Given the description of an element on the screen output the (x, y) to click on. 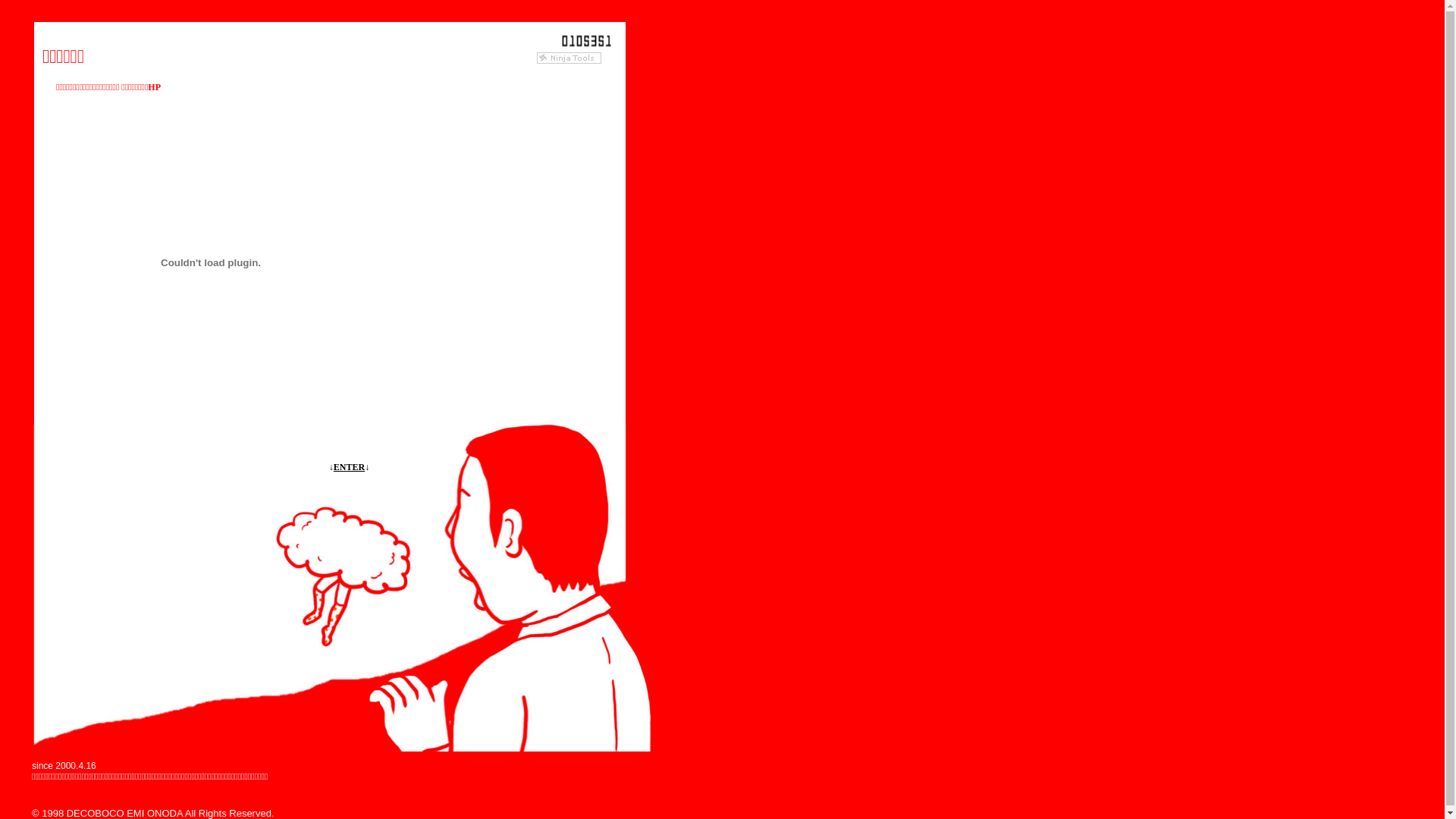
ENTER Element type: text (348, 466)
